Given the description of an element on the screen output the (x, y) to click on. 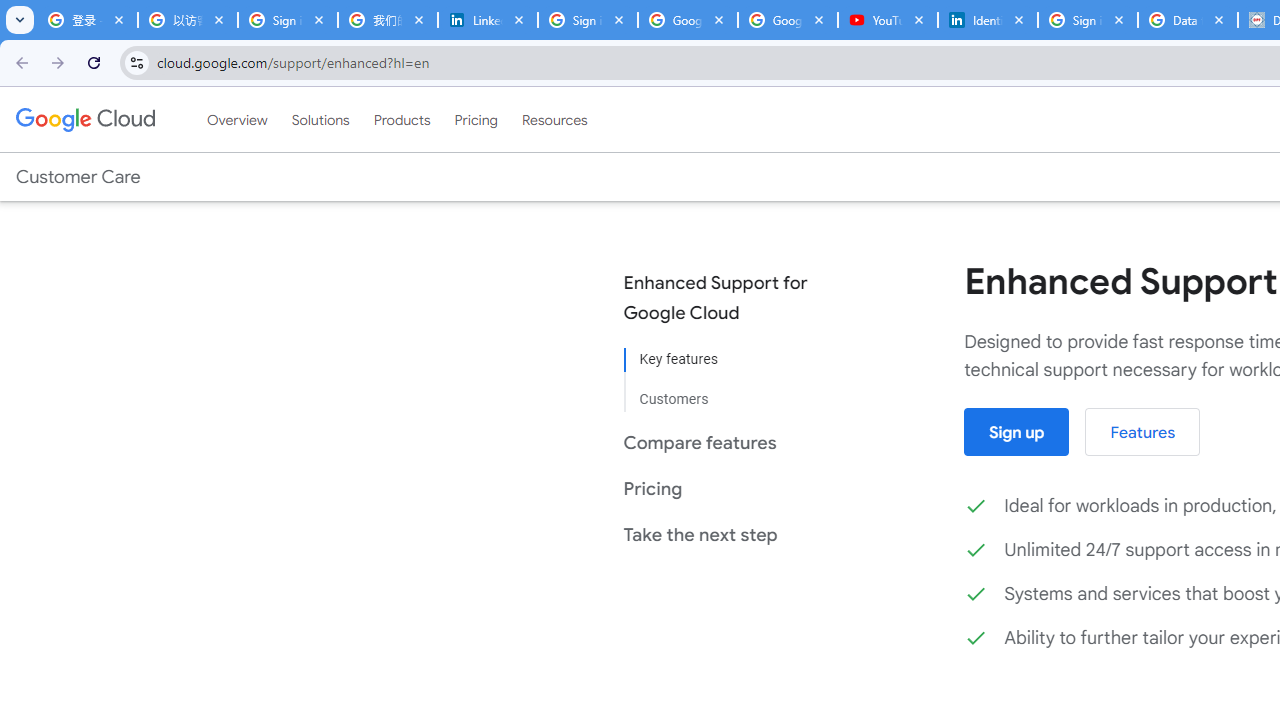
Sign in - Google Accounts (587, 20)
Solutions (320, 119)
Products (401, 119)
Sign in - Google Accounts (287, 20)
Sign in - Google Accounts (1087, 20)
Google Cloud (84, 119)
Compare features (730, 442)
Resources (553, 119)
